Given the description of an element on the screen output the (x, y) to click on. 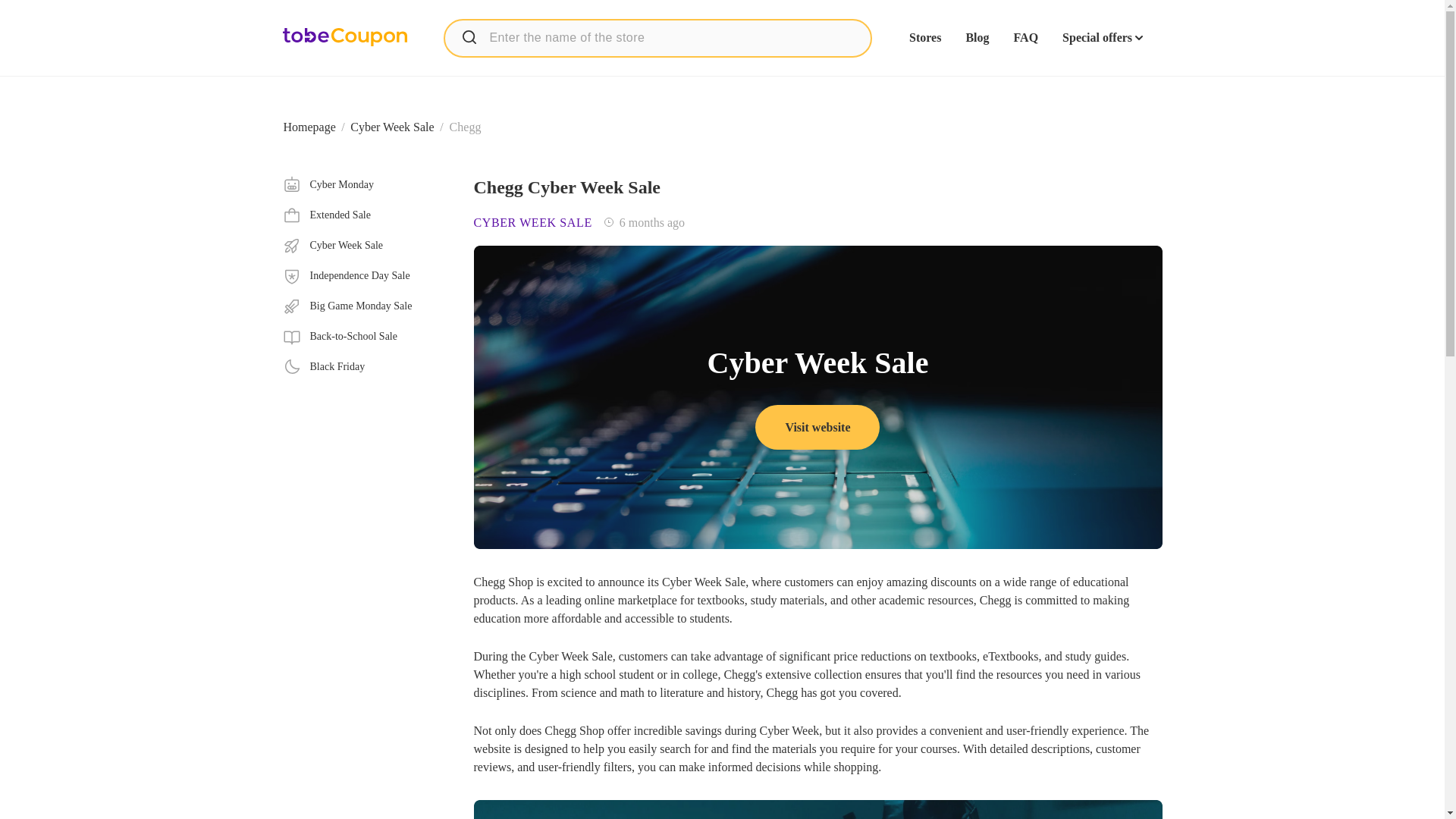
Black Friday (365, 366)
Independence Day Sale (365, 275)
Extended Sale (365, 215)
CYBER WEEK SALE (532, 222)
Big Game Monday Sale (365, 306)
Blog (976, 37)
Search (469, 37)
Stores (924, 37)
Cyber Monday (365, 185)
Cyber Week Sale (817, 807)
FAQ (391, 126)
Visit website (1025, 37)
Cyber Week Sale (817, 426)
Back-to-School Sale (365, 245)
